Given the description of an element on the screen output the (x, y) to click on. 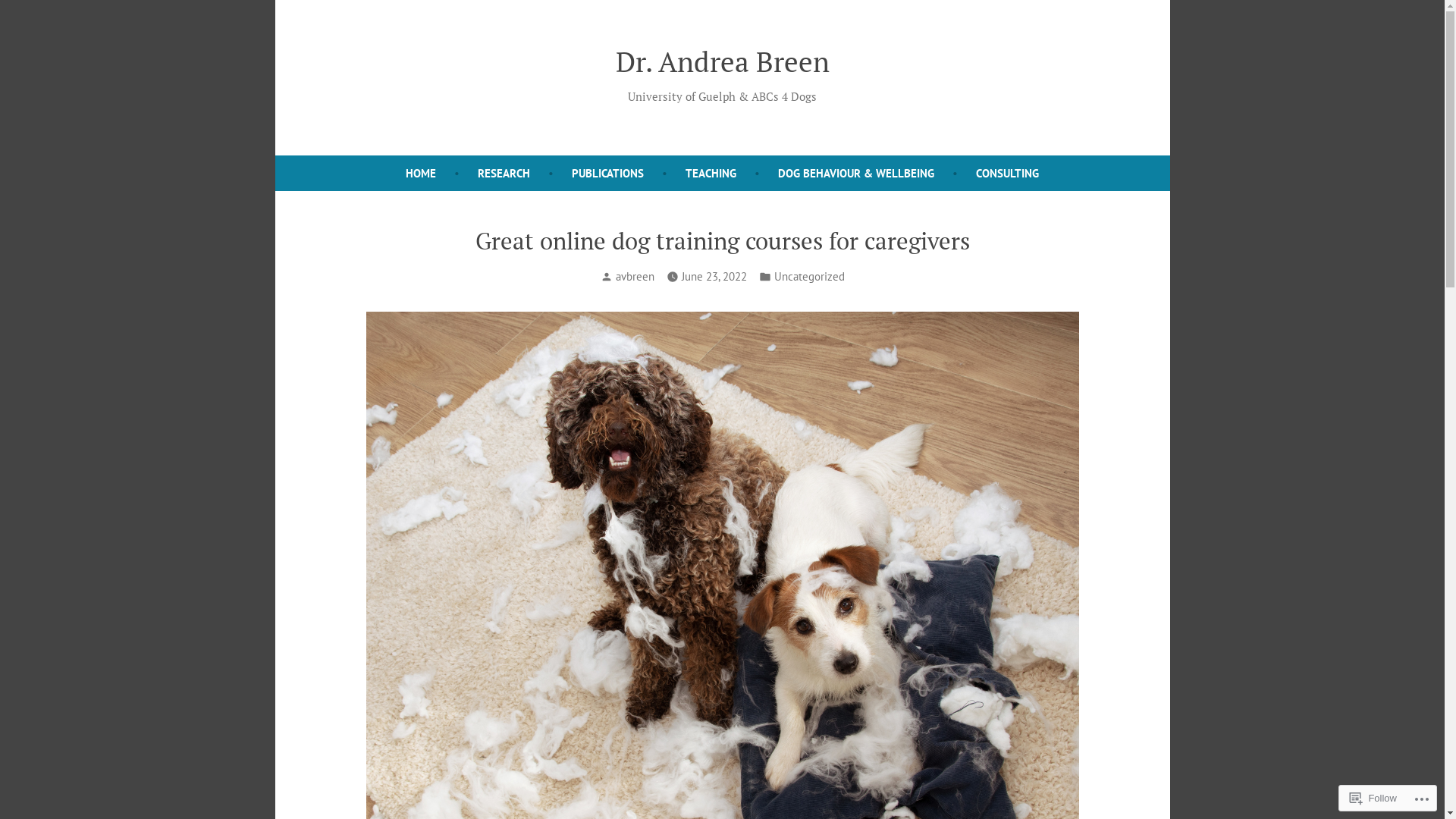
TEACHING Element type: text (710, 173)
DOG BEHAVIOUR & WELLBEING Element type: text (855, 173)
HOME Element type: text (420, 173)
RESEARCH Element type: text (503, 173)
Uncategorized Element type: text (808, 276)
June 23, 2022 Element type: text (713, 276)
PUBLICATIONS Element type: text (607, 173)
avbreen Element type: text (634, 276)
CONSULTING Element type: text (1007, 173)
Follow Element type: text (1372, 797)
Dr. Andrea Breen Element type: text (722, 61)
